Given the description of an element on the screen output the (x, y) to click on. 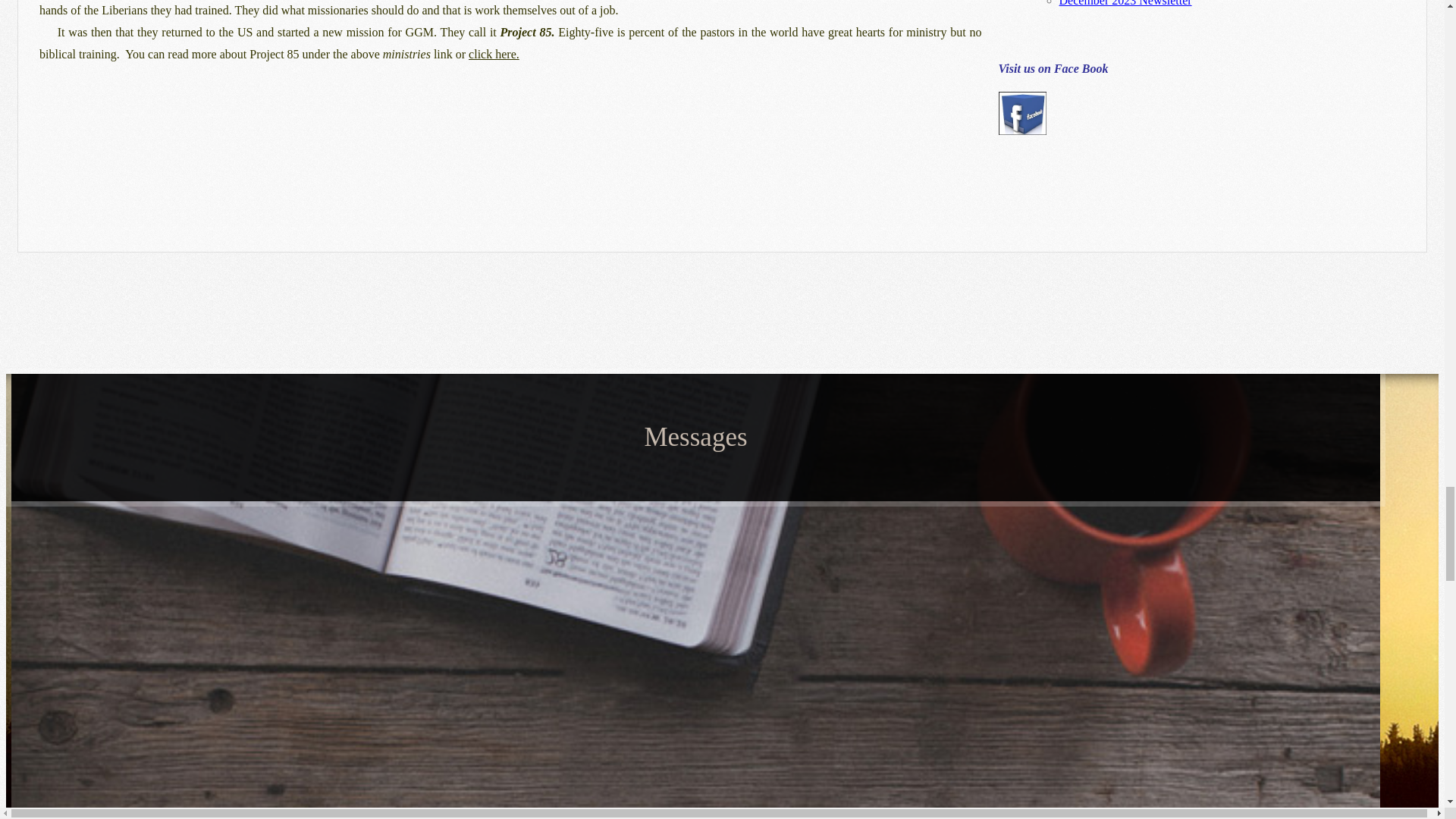
click here. (493, 53)
December 2023 Newsletter (1125, 3)
